Given the description of an element on the screen output the (x, y) to click on. 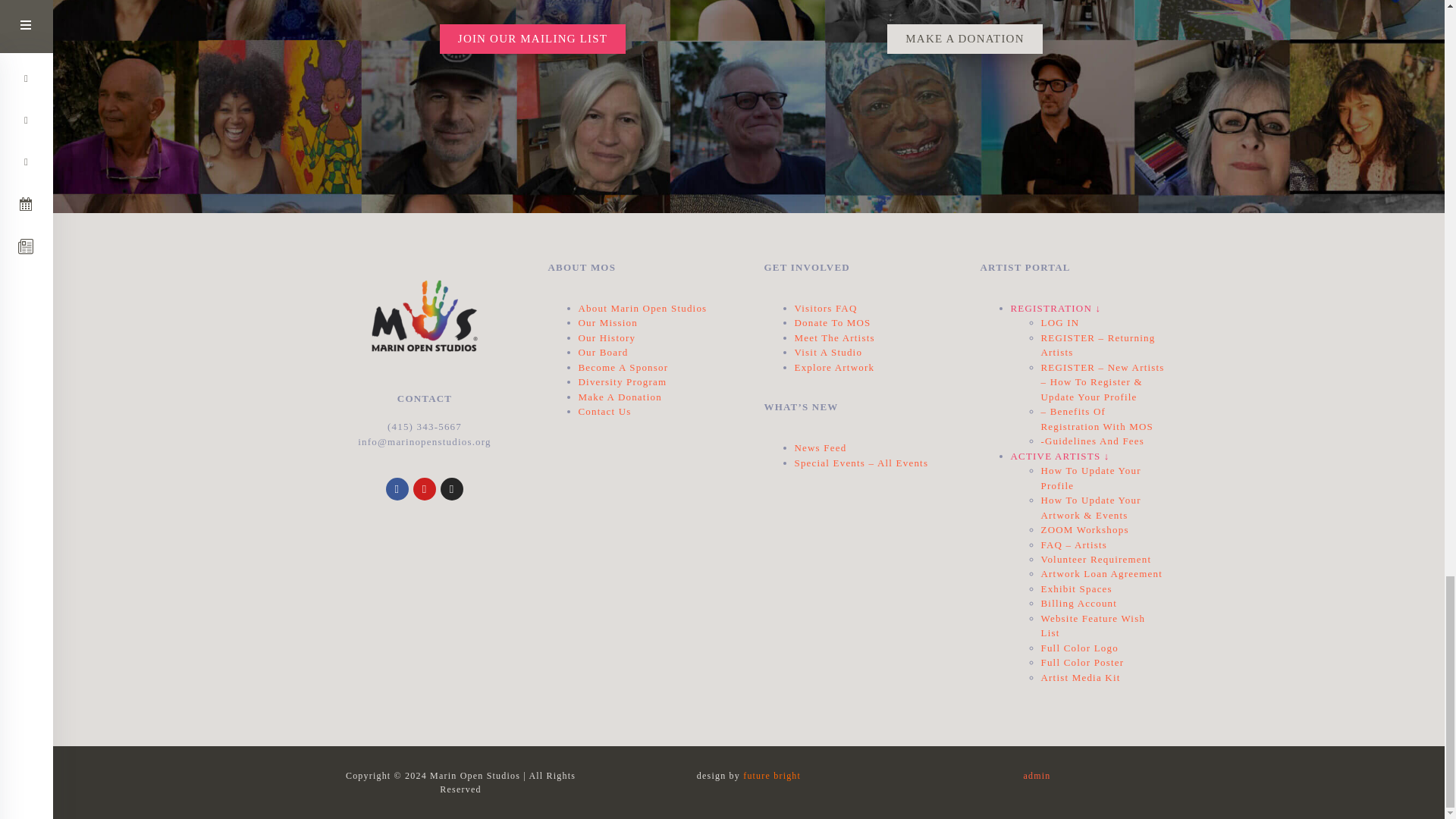
JOIN OUR MAILING LIST (532, 39)
